Given the description of an element on the screen output the (x, y) to click on. 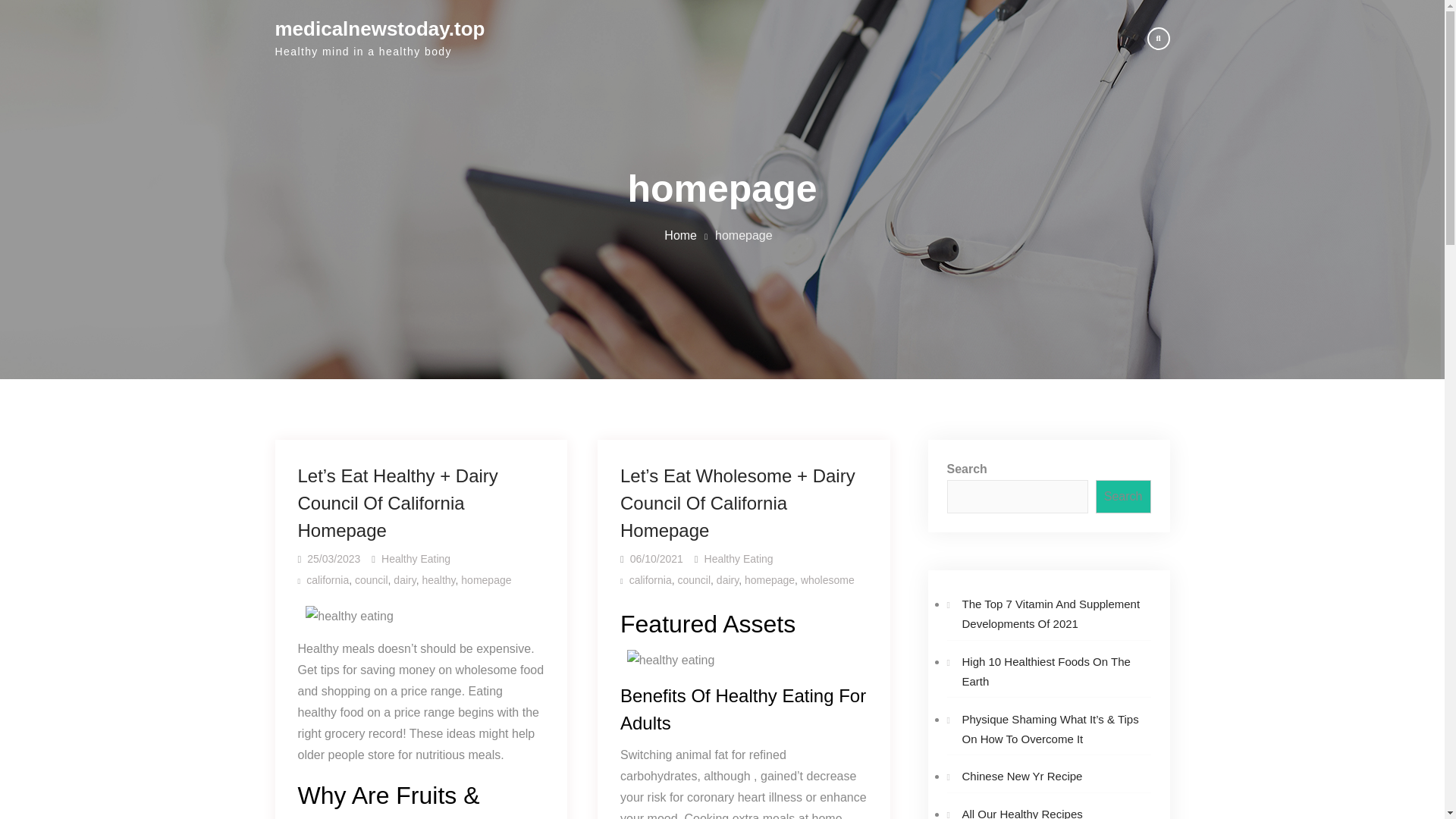
medicalnewstoday.top (379, 28)
wholesome (827, 580)
The Top 7 Vitamin And Supplement Developments Of 2021 (1050, 613)
Home (680, 235)
Chinese New Yr Recipe (1020, 775)
healthy (438, 580)
council (693, 580)
homepage (486, 580)
california (649, 580)
dairy (403, 580)
All Our Healthy Recipes (1020, 813)
Healthy Eating (738, 558)
dairy (727, 580)
High 10 Healthiest Foods On The Earth (1044, 671)
council (371, 580)
